Given the description of an element on the screen output the (x, y) to click on. 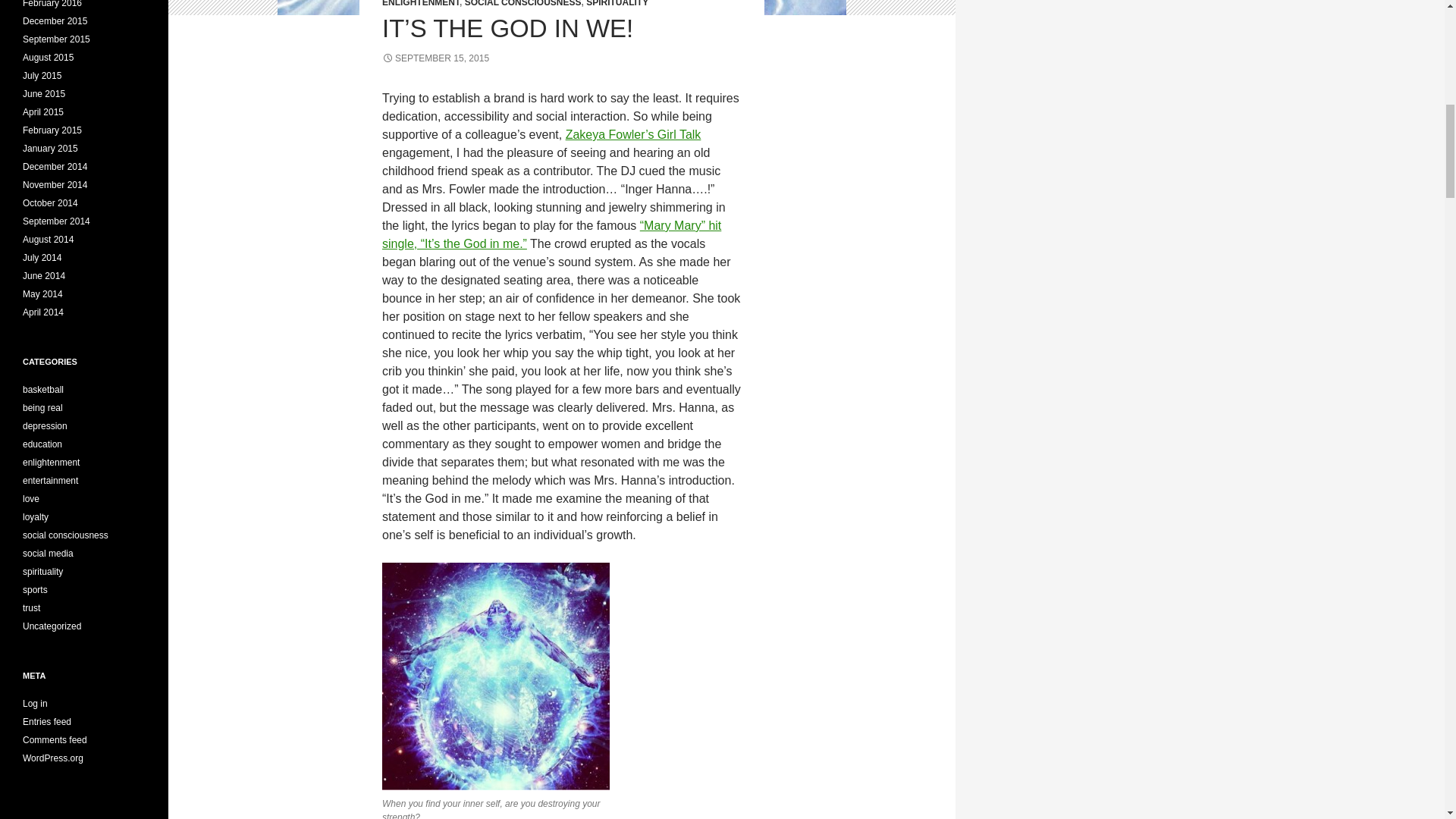
SPIRITUALITY (616, 3)
SEPTEMBER 15, 2015 (435, 58)
SOCIAL CONSCIOUSNESS (522, 3)
ENLIGHTENMENT (420, 3)
